Given the description of an element on the screen output the (x, y) to click on. 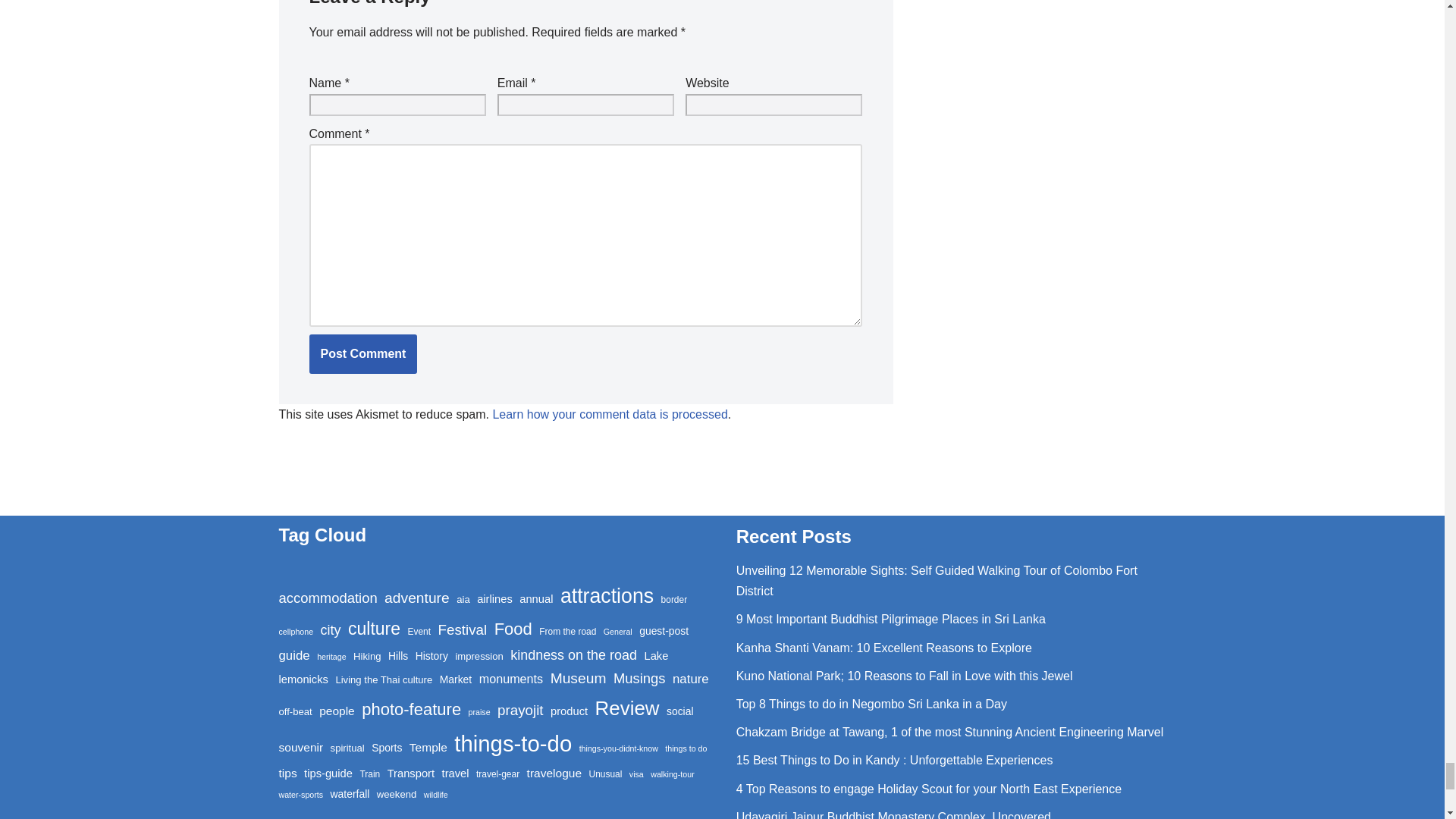
Post Comment (362, 353)
